Given the description of an element on the screen output the (x, y) to click on. 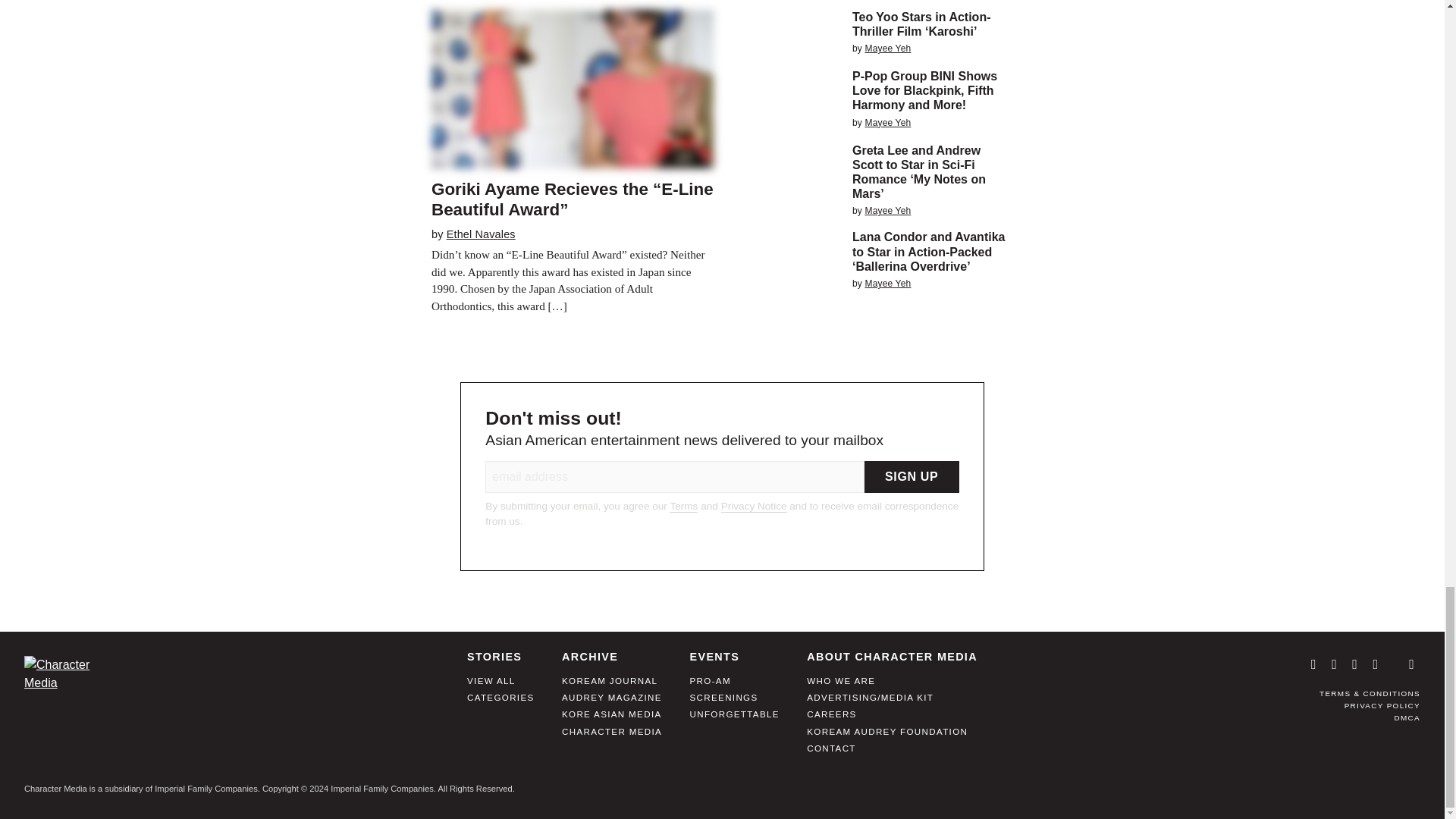
KoreAm Audrey Foundation (887, 737)
Sign Up (911, 477)
Ethel Navales (480, 234)
